Given the description of an element on the screen output the (x, y) to click on. 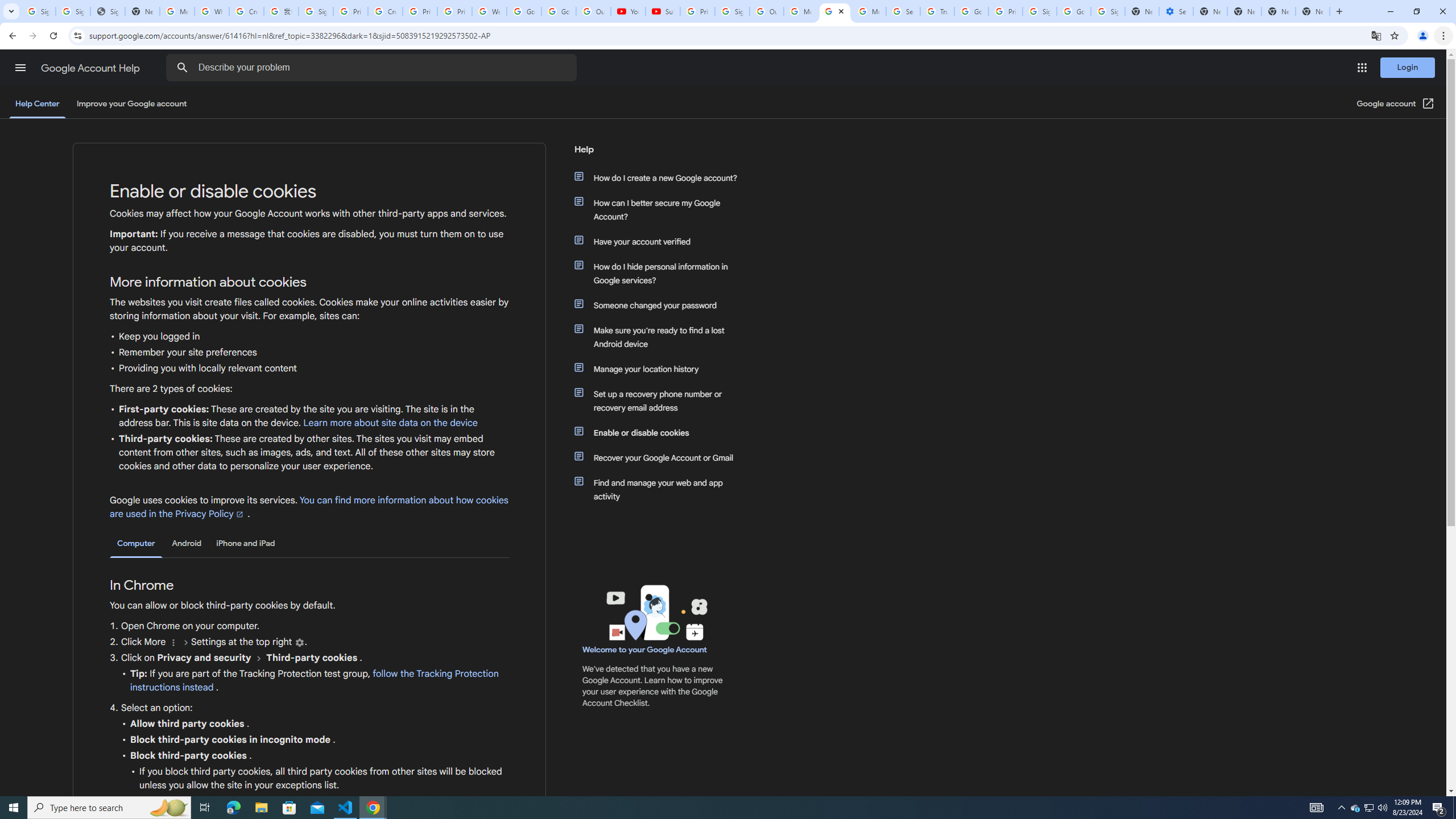
Institutions (299, 642)
Android (186, 542)
Describe your problem (373, 67)
How do I create a new Google account? (661, 177)
Sign in - Google Accounts (1039, 11)
More (173, 642)
How do I hide personal information in Google services? (661, 273)
Manage your location history (661, 368)
